Given the description of an element on the screen output the (x, y) to click on. 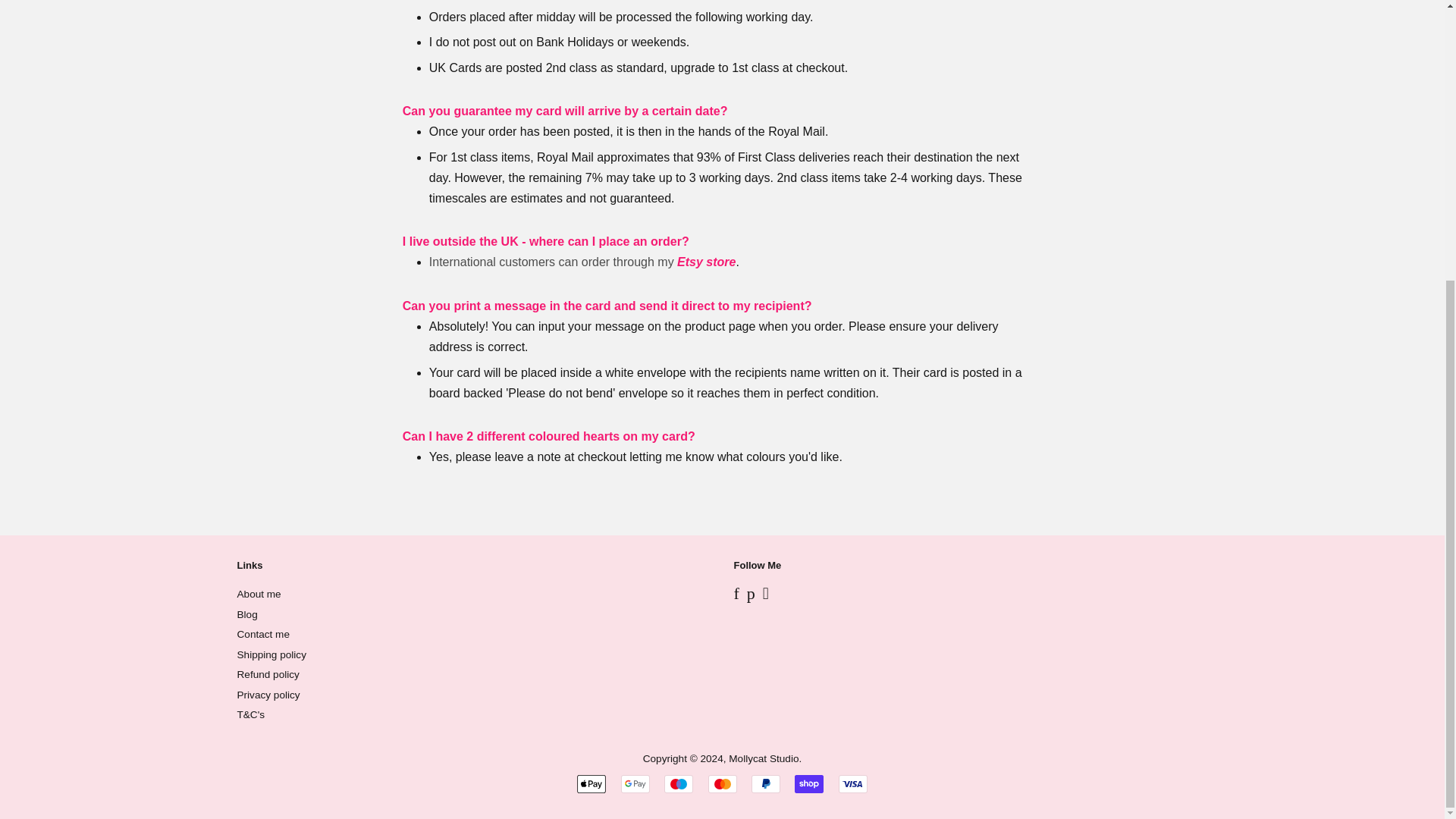
International customers can order through my Etsy store (582, 261)
Refund policy (266, 674)
Google Pay (635, 783)
Contact me (262, 633)
Blog (246, 614)
Mollycat Studio (763, 758)
Privacy policy (267, 695)
Mollycat Studio Etsy shop (582, 261)
Shipping policy (270, 654)
Visa (852, 783)
Shop Pay (809, 783)
Mastercard (721, 783)
Maestro (678, 783)
About me (258, 593)
Apple Pay (590, 783)
